Given the description of an element on the screen output the (x, y) to click on. 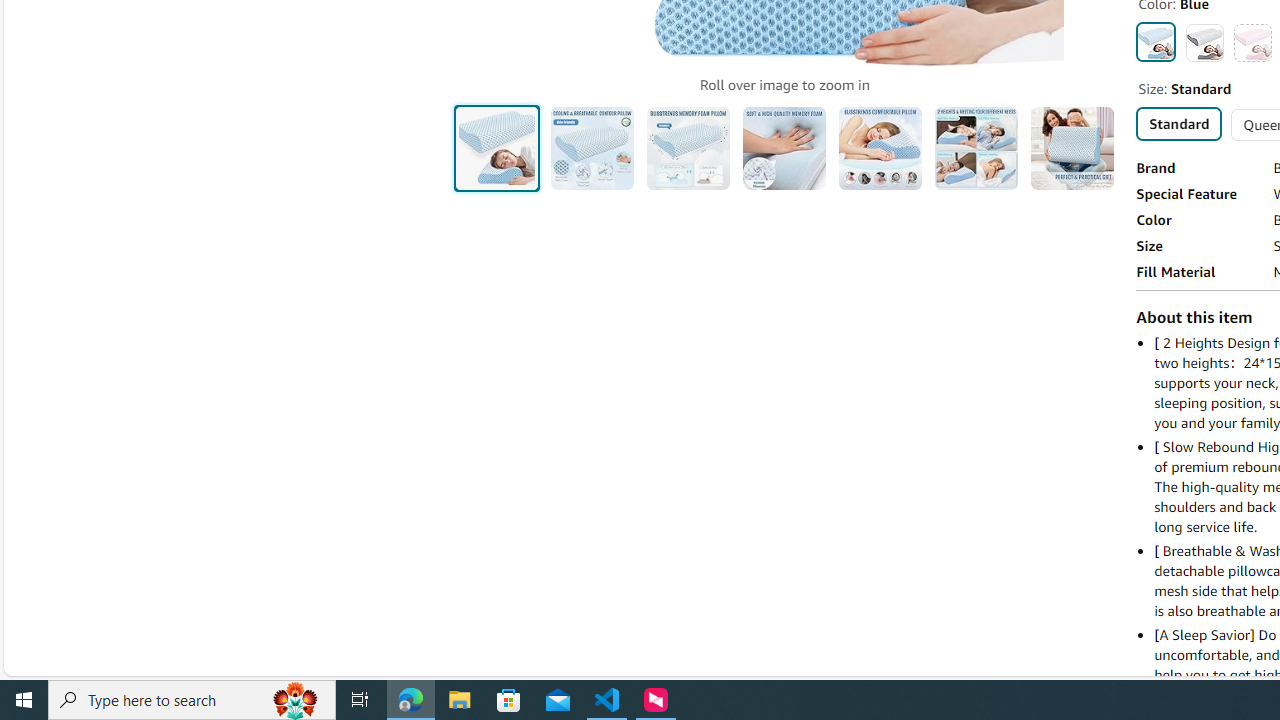
Blue (1156, 41)
Pink (1252, 42)
Standard (1178, 123)
Grey (1204, 42)
Grey (1204, 42)
Pink (1252, 42)
Blue (1156, 41)
